Given the description of an element on the screen output the (x, y) to click on. 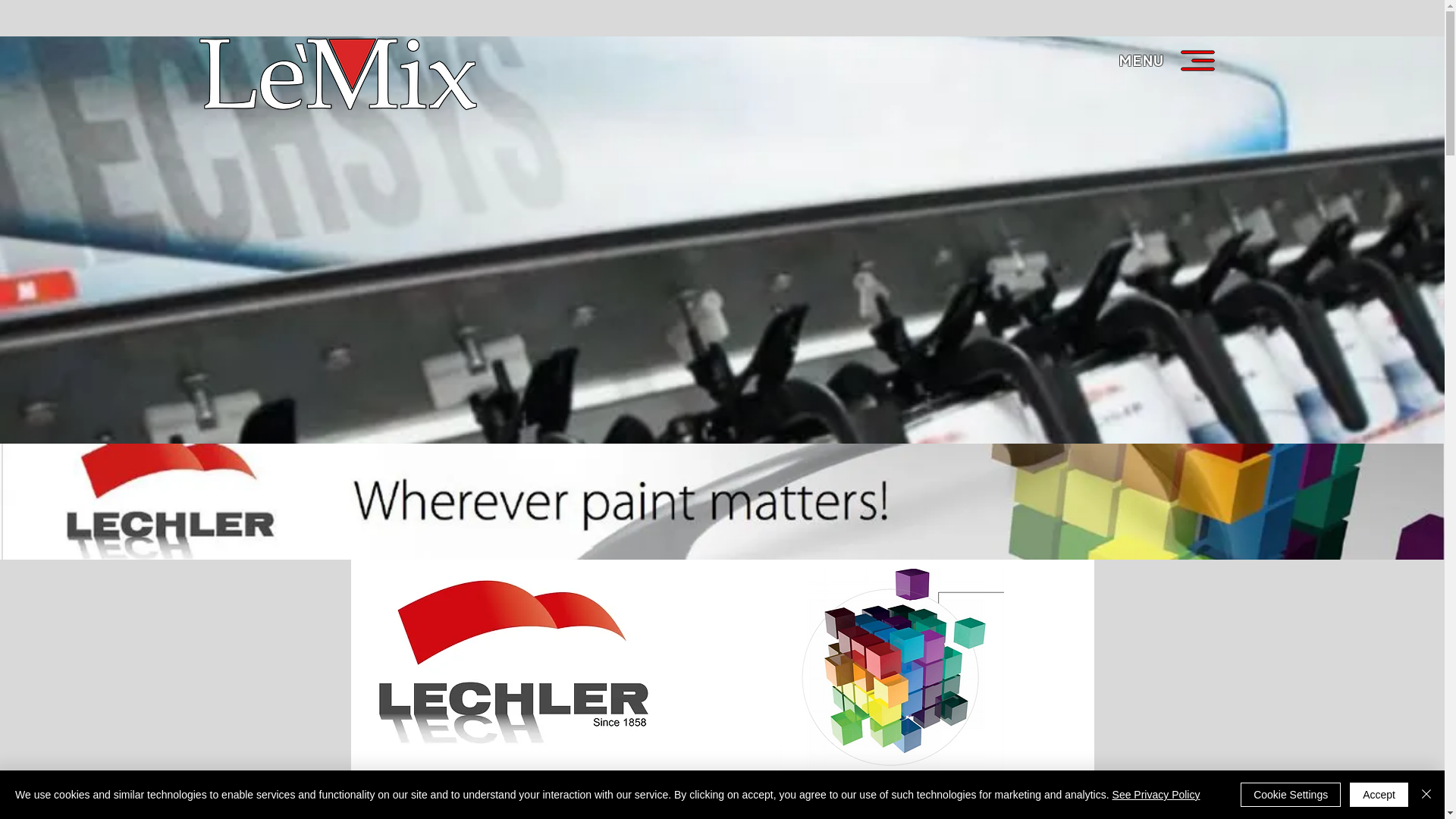
Accept Element type: text (1378, 794)
See Privacy Policy Element type: text (1156, 794)
Cookie Settings Element type: text (1290, 794)
